Given the description of an element on the screen output the (x, y) to click on. 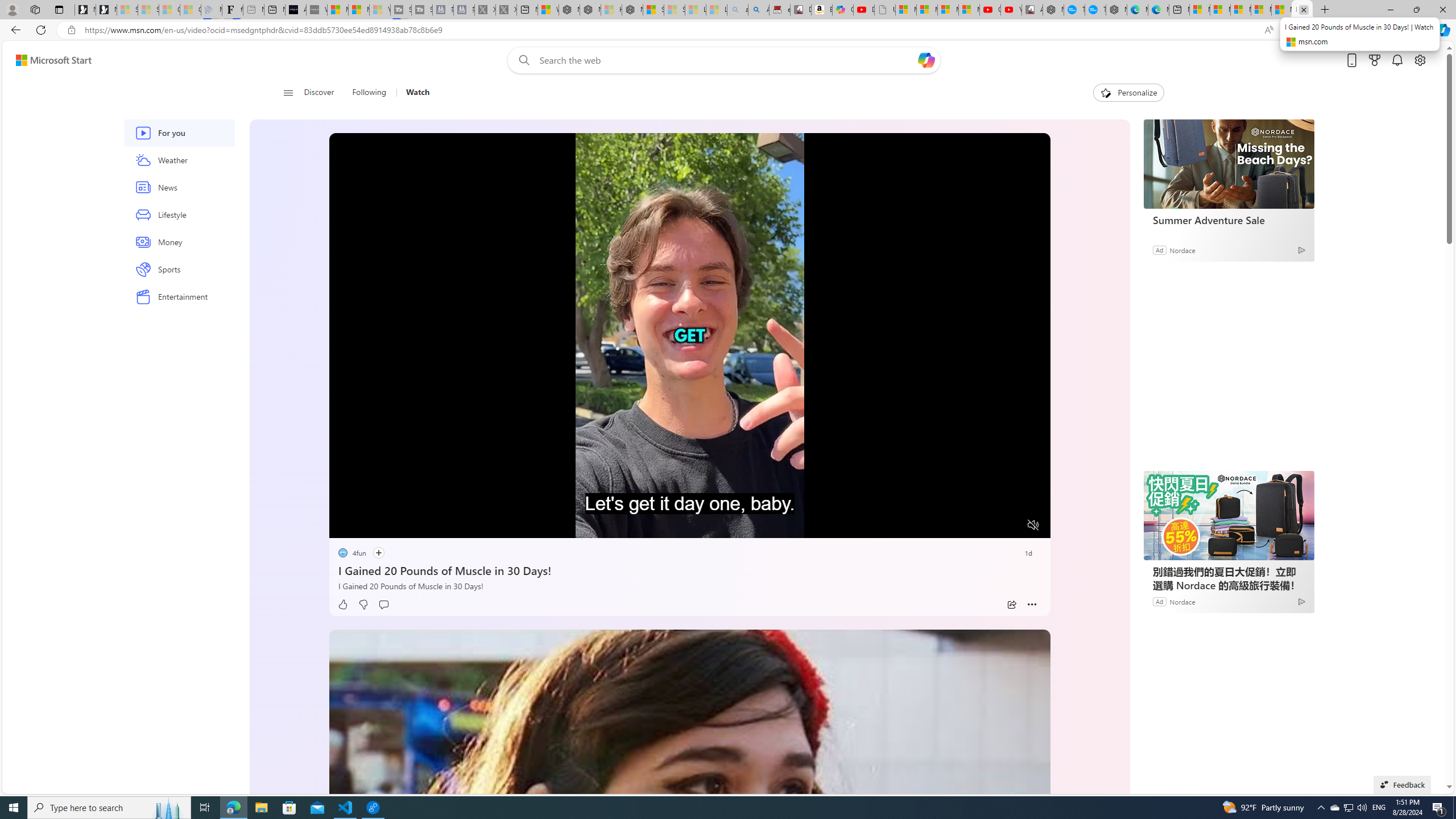
Microsoft account | Privacy (1261, 9)
Microsoft rewards (1374, 60)
Feedback (1402, 784)
Collections (1369, 29)
Day 1: Arriving in Yemen (surreal to be here) - YouTube (863, 9)
Newsletter Sign Up (106, 9)
Browser essentials (1394, 29)
What's the best AI voice generator? - voice.ai - Sleeping (316, 9)
Like (342, 604)
Amazon Echo Dot PNG - Search Images (759, 9)
Open Copilot (926, 59)
Nordace - Summer Adventures 2024 (590, 9)
